Given the description of an element on the screen output the (x, y) to click on. 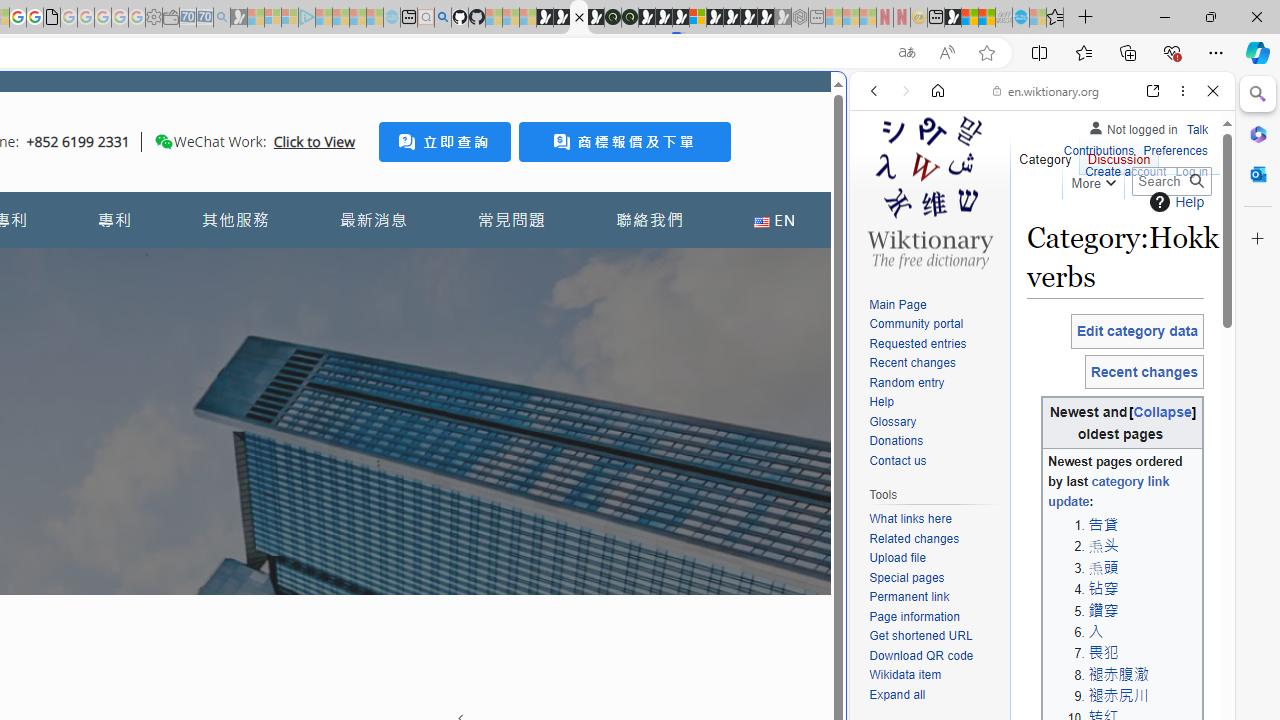
Close split screen (844, 102)
Main Page (934, 305)
